Given the description of an element on the screen output the (x, y) to click on. 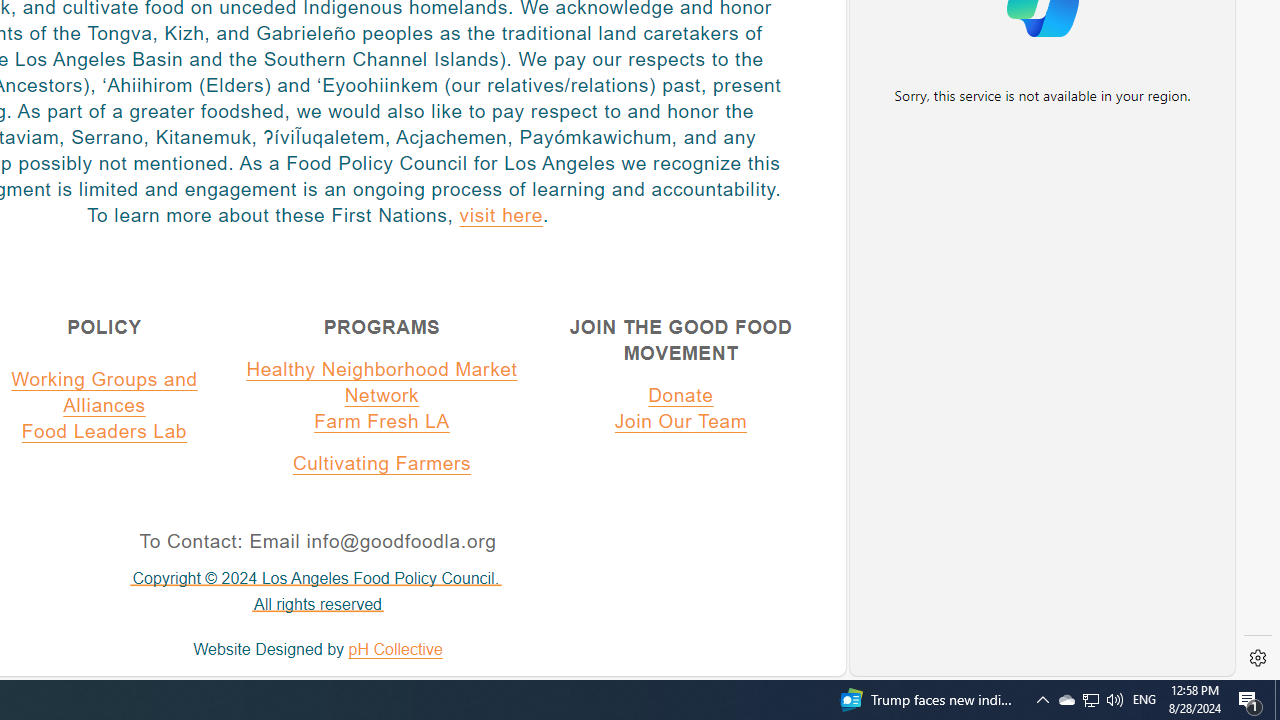
Cultivating Farmers  (381, 463)
Healthy Neighborhood Market Network (382, 381)
visit here (501, 215)
Donate (680, 395)
pH Collective (395, 649)
Food Leaders Lab (104, 431)
Join Our Team (680, 421)
Farm Fresh LA (381, 421)
Settings (1258, 658)
